Given the description of an element on the screen output the (x, y) to click on. 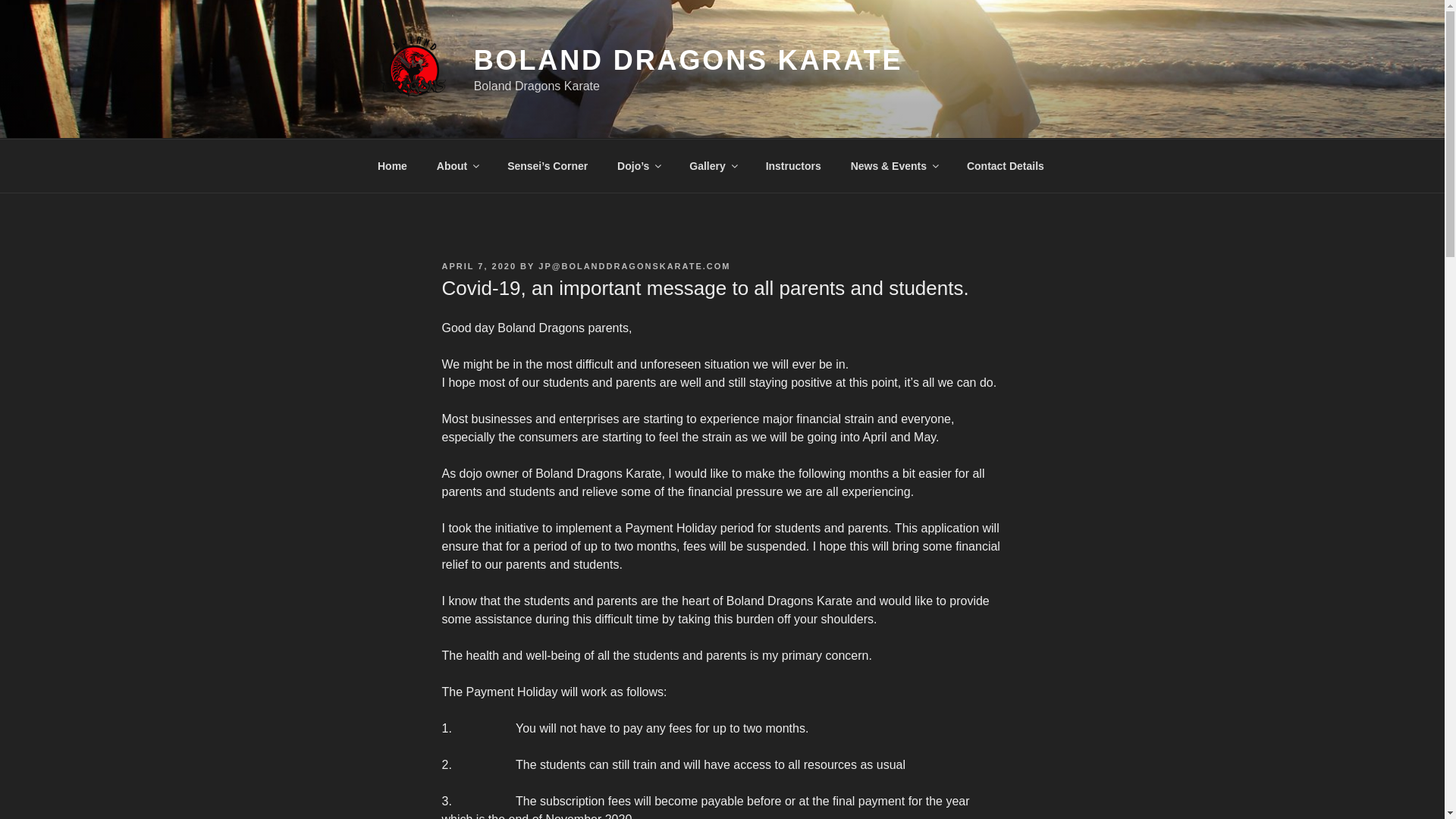
Gallery (713, 165)
About (456, 165)
APRIL 7, 2020 (478, 266)
Contact Details (1005, 165)
BOLAND DRAGONS KARATE (688, 60)
Instructors (793, 165)
Home (392, 165)
